Given the description of an element on the screen output the (x, y) to click on. 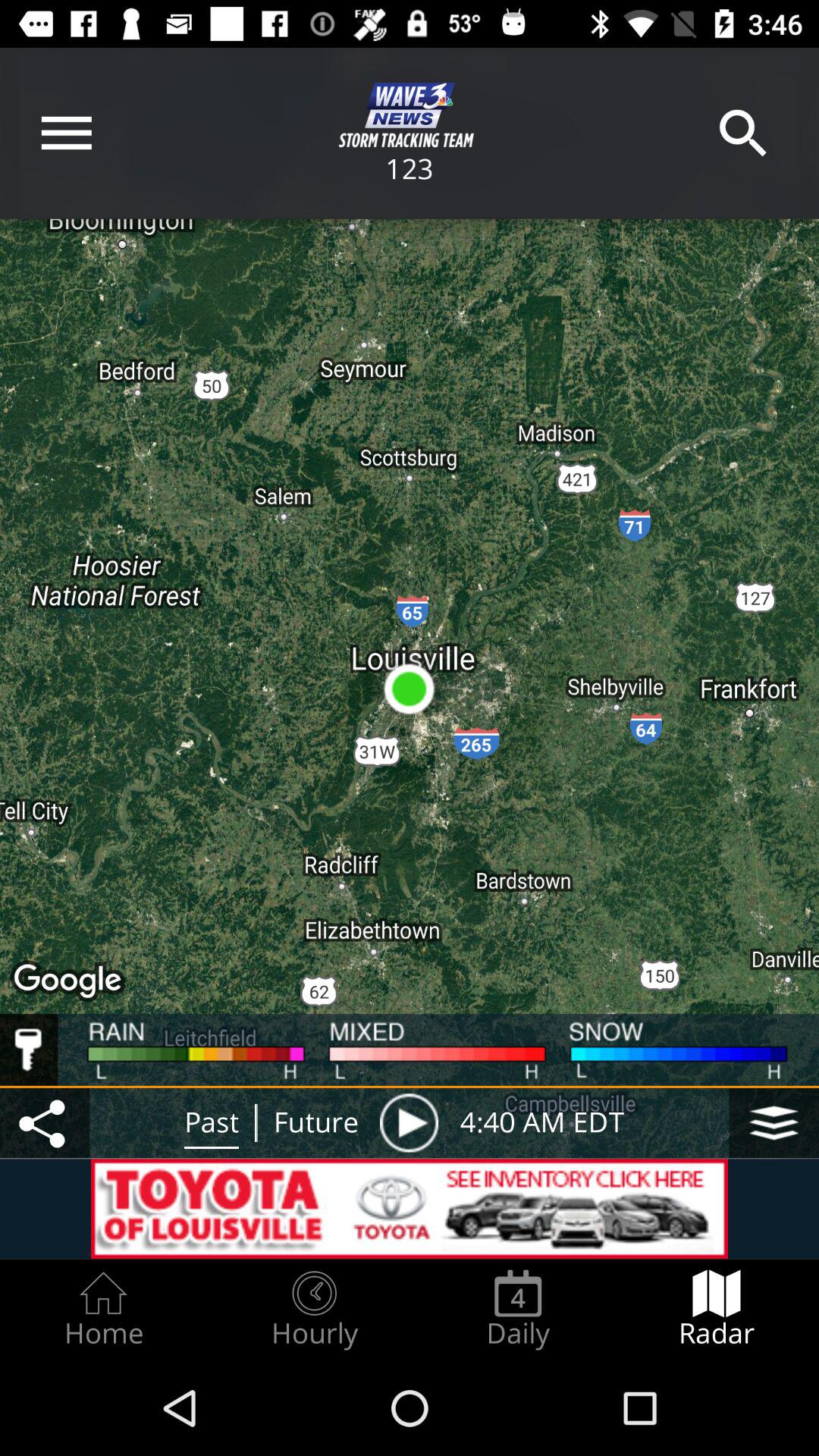
jump to the hourly item (314, 1309)
